Given the description of an element on the screen output the (x, y) to click on. 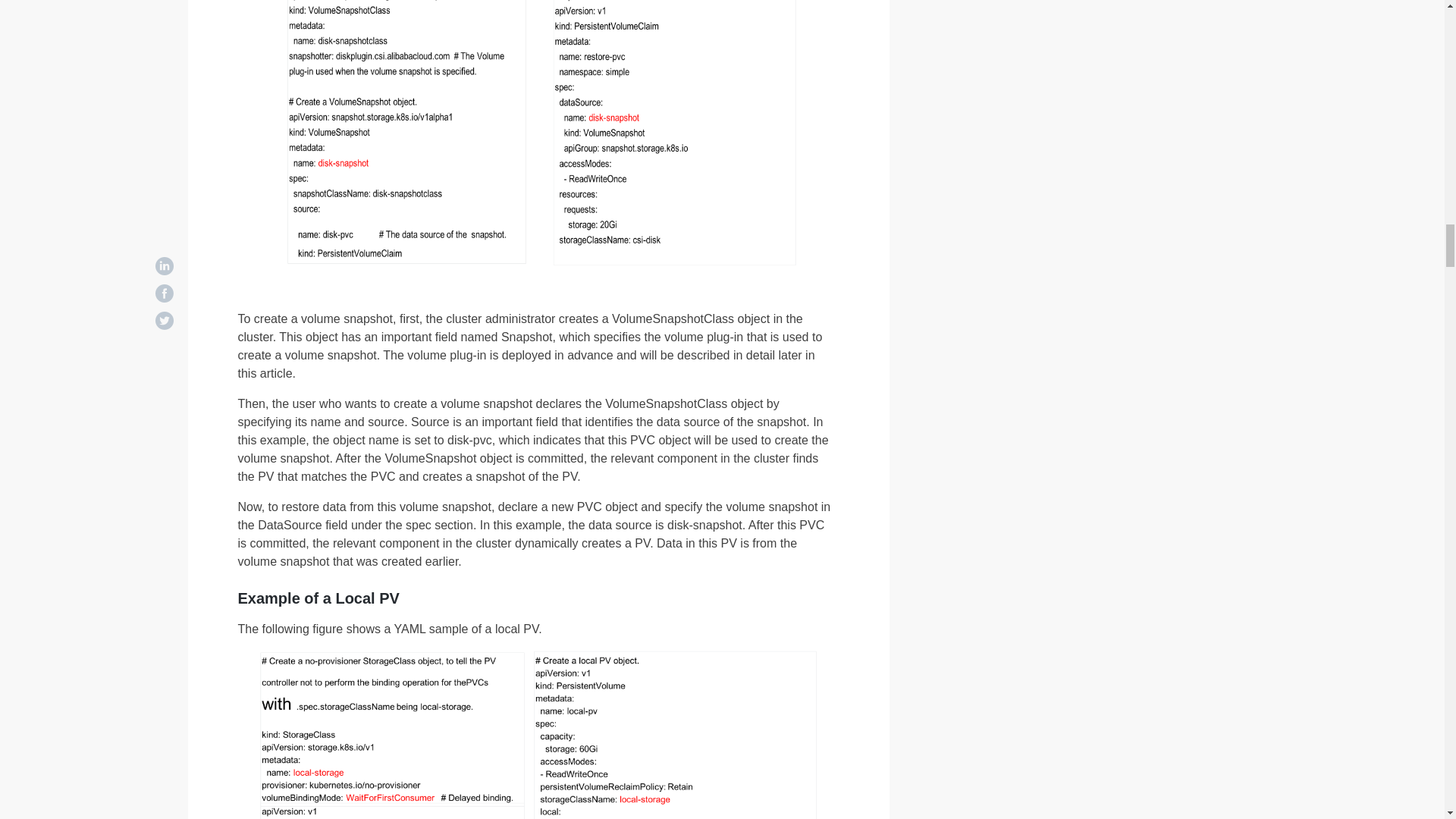
6 (536, 734)
